Given the description of an element on the screen output the (x, y) to click on. 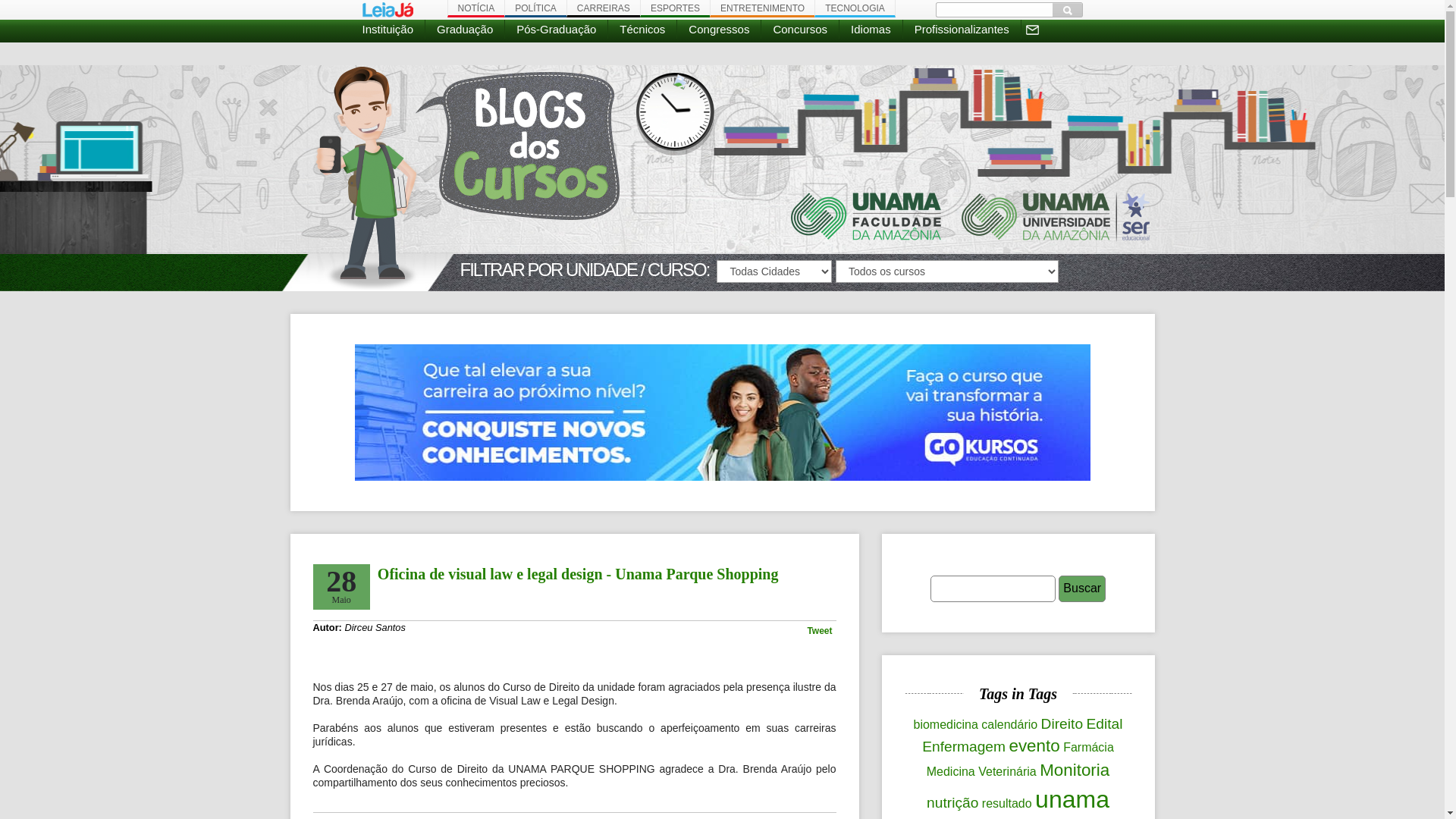
Monitoria Element type: text (1074, 769)
unama Element type: text (1072, 798)
Buscar Element type: text (1067, 9)
Tweet Element type: text (818, 630)
Clique Aqui! Element type: hover (722, 410)
ENTRETENIMENTO Element type: text (761, 8)
Oficina de visual law e legal design - Unama Parque Shopping Element type: text (577, 573)
Blogs dos Cursos Element type: hover (466, 178)
CARREIRAS Element type: text (603, 8)
TECNOLOGIA Element type: text (854, 8)
Edital Element type: text (1104, 723)
Buscar Element type: text (1081, 588)
Enfermagem Element type: text (963, 746)
Idiomas Element type: text (871, 28)
Congressos Element type: text (719, 28)
Direito Element type: text (1061, 723)
Concursos Element type: text (800, 28)
evento Element type: text (1033, 745)
biomedicina Element type: text (945, 724)
ESPORTES Element type: text (674, 8)
resultado Element type: text (1007, 803)
Profissionalizantes Element type: text (962, 28)
